Given the description of an element on the screen output the (x, y) to click on. 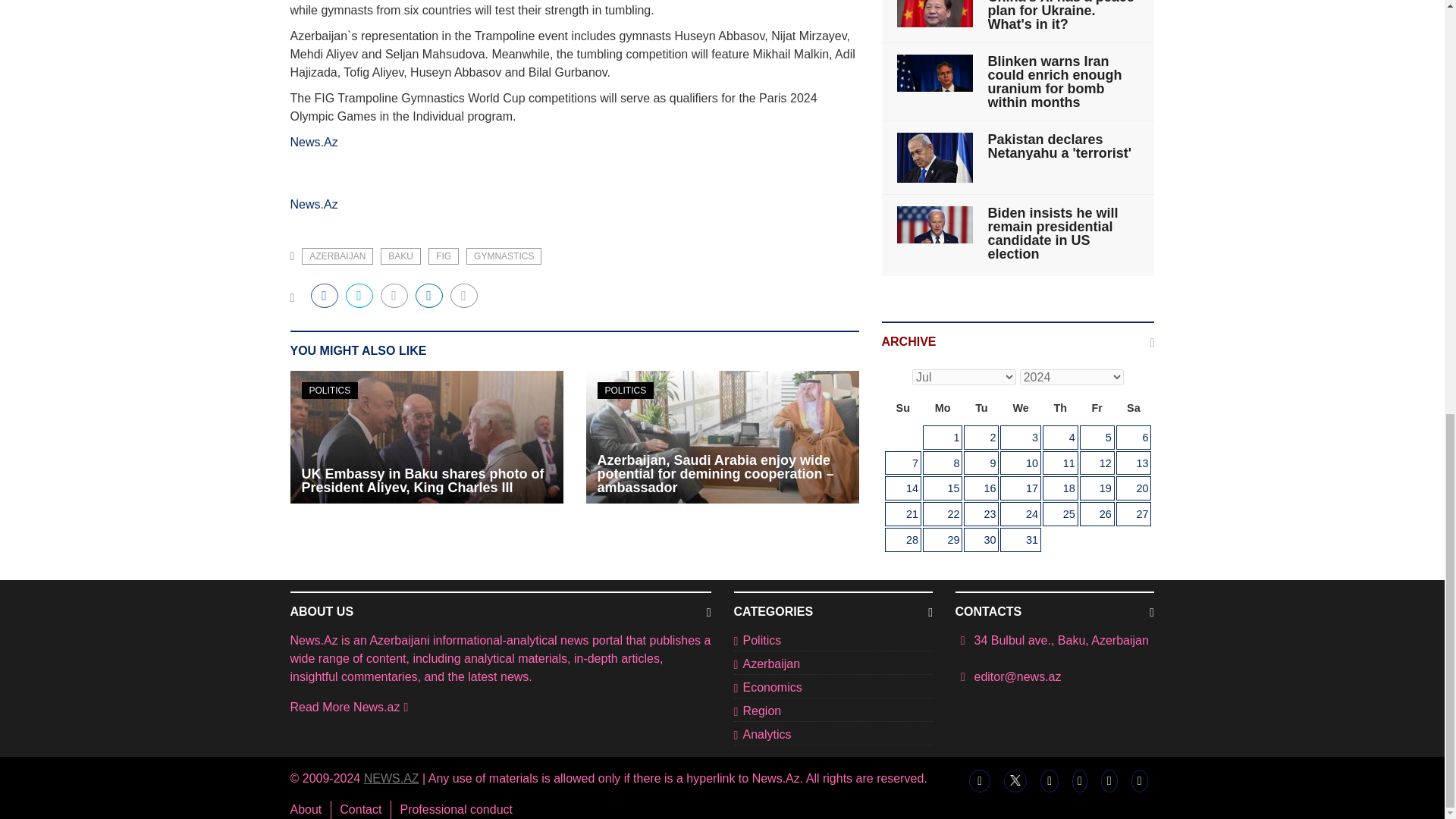
News.Az (313, 204)
Share news on Facebook (324, 295)
Share news on Twitter (359, 295)
News.Az (313, 141)
AZERBAIJAN (336, 256)
GYMNASTICS (503, 256)
BAKU (400, 256)
FIG (443, 256)
